Given the description of an element on the screen output the (x, y) to click on. 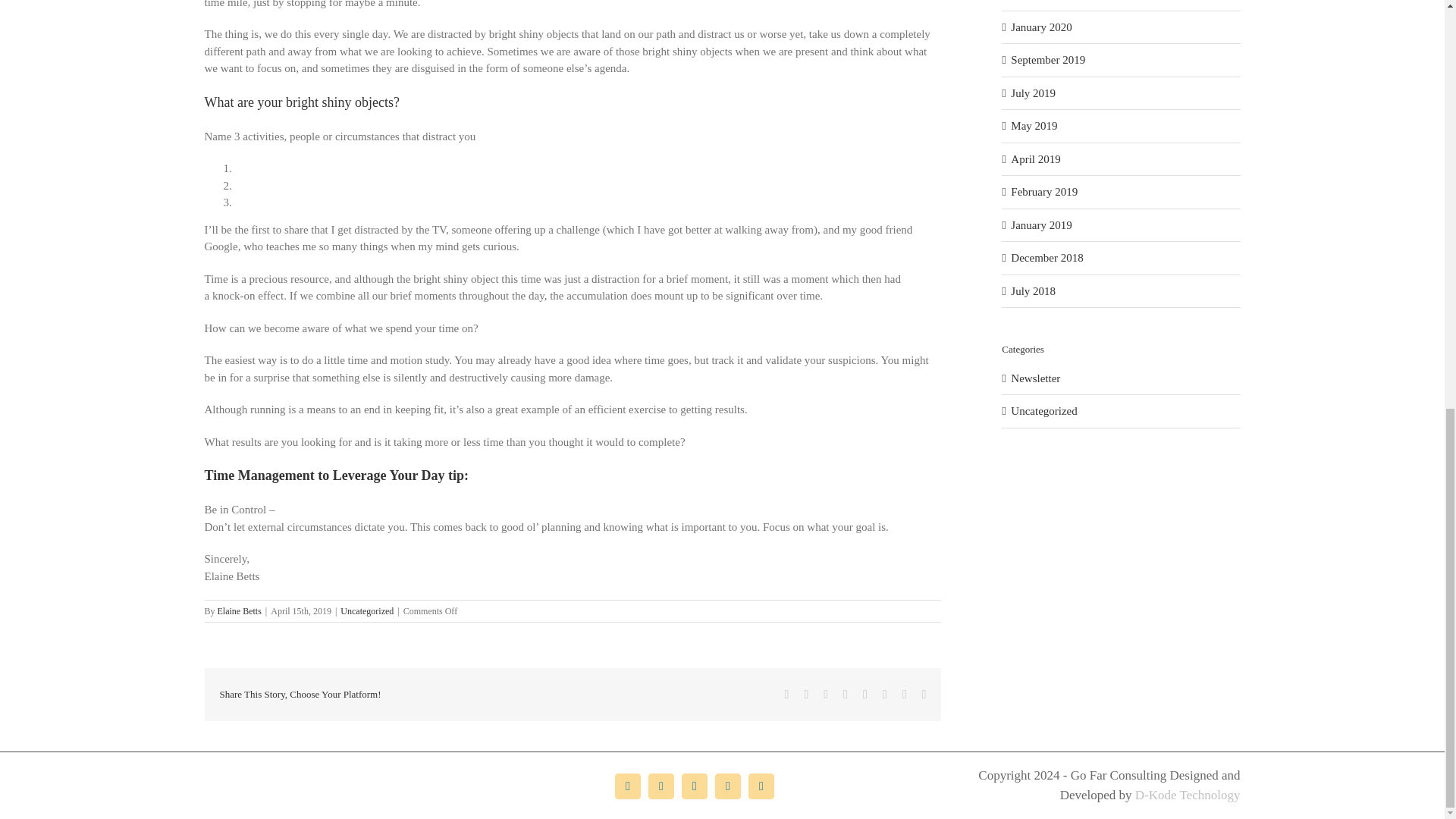
Elaine Betts (239, 611)
Posts by Elaine Betts (239, 611)
Uncategorized (366, 611)
